Given the description of an element on the screen output the (x, y) to click on. 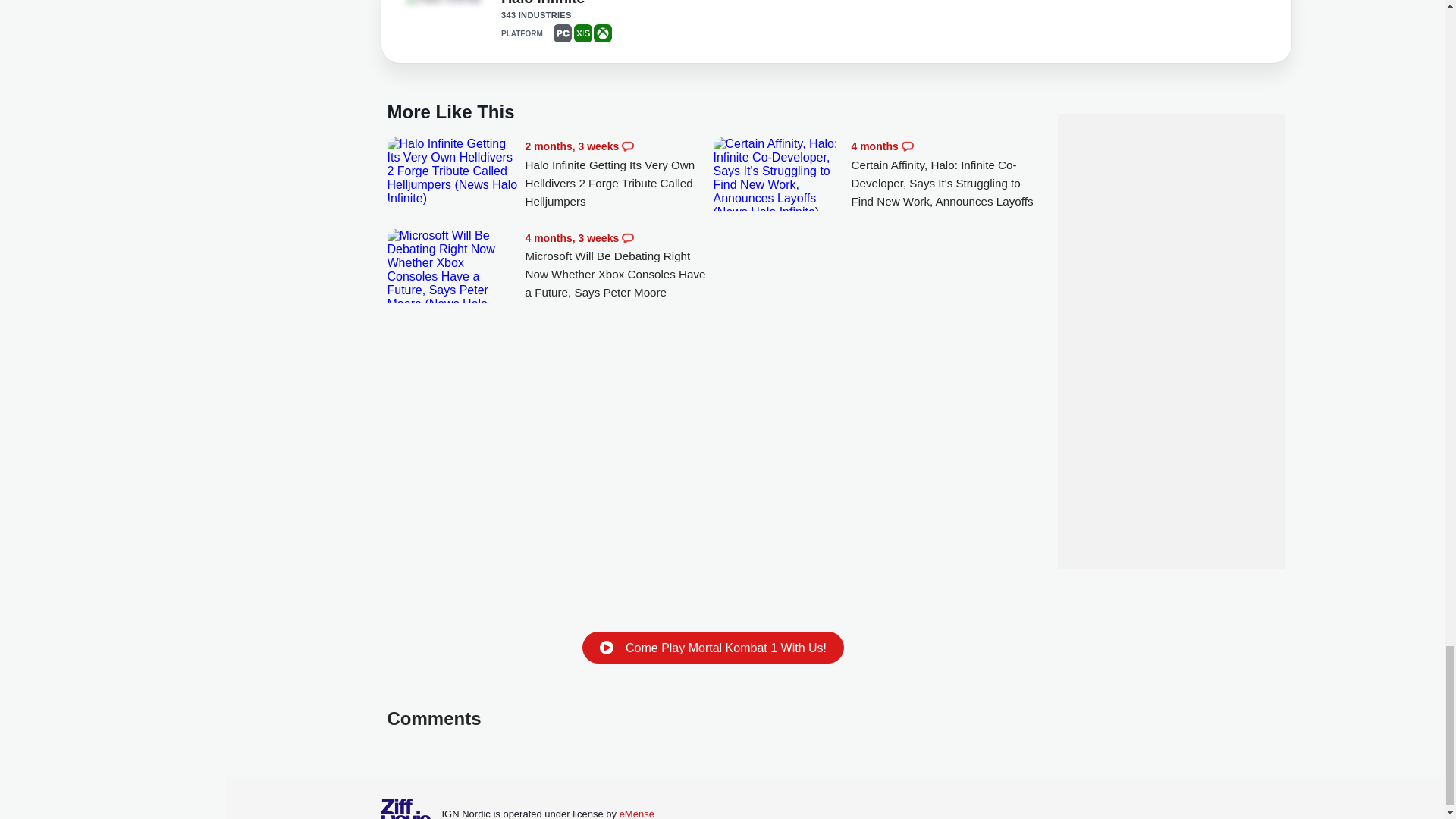
Halo Infinite (448, 2)
Comments (907, 146)
XBOXONE (602, 33)
Comments (627, 146)
Comments (627, 237)
XBOXSERIES (582, 33)
Halo Infinite (542, 6)
Halo Infinite (442, 0)
PC (562, 33)
